Given the description of an element on the screen output the (x, y) to click on. 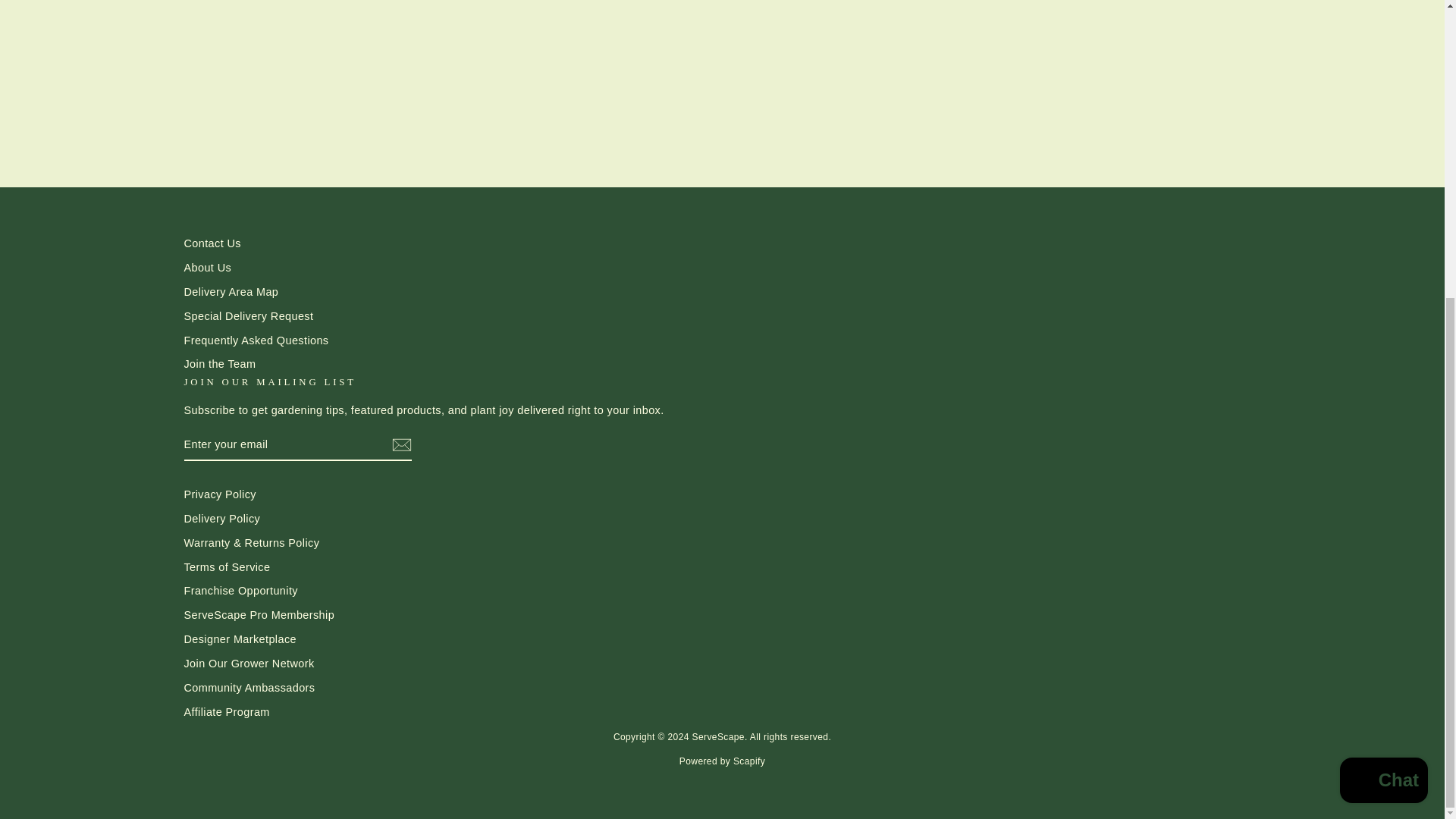
icon-email (400, 444)
Shopify online store chat (1383, 320)
